Given the description of an element on the screen output the (x, y) to click on. 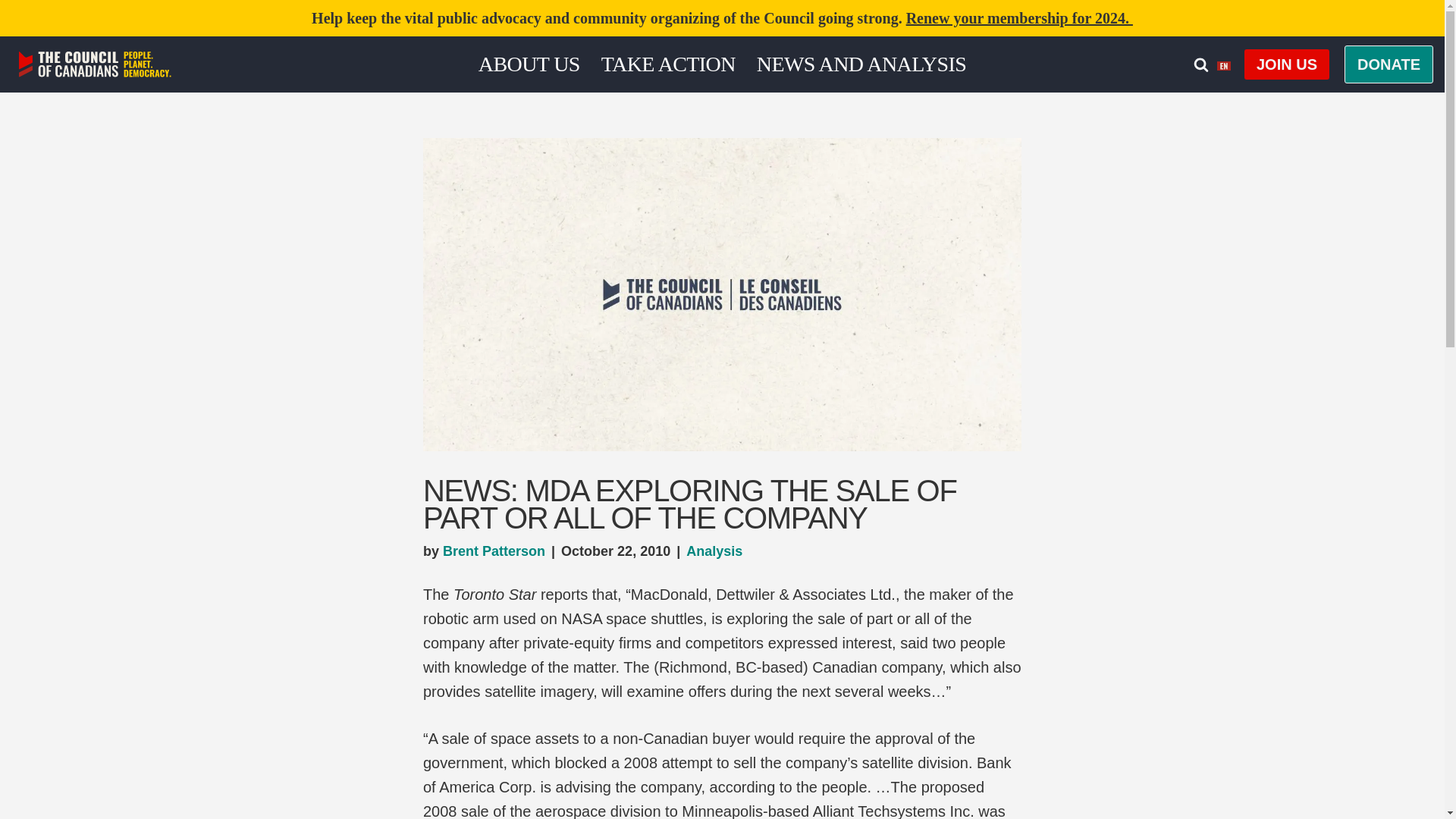
Brent Patterson (493, 550)
ABOUT US (529, 63)
Analysis (713, 550)
Posts by Brent Patterson (493, 550)
JOIN US (1286, 64)
Renew your membership for 2024.  (1018, 17)
DONATE (1387, 64)
TAKE ACTION (668, 63)
NEWS AND ANALYSIS (861, 63)
Skip to content (11, 31)
